Given the description of an element on the screen output the (x, y) to click on. 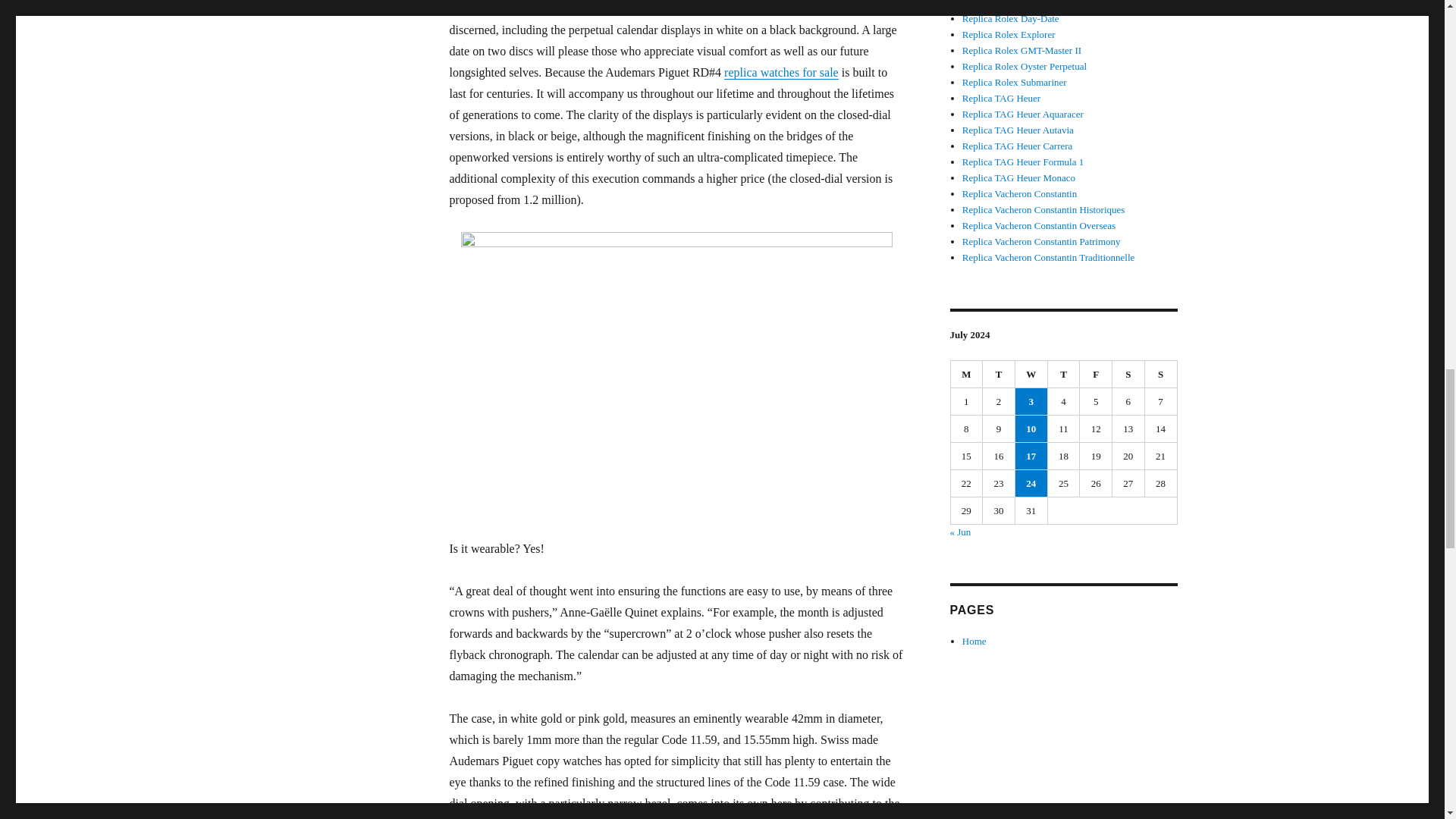
Friday (1096, 374)
Thursday (1064, 374)
replica watches for sale (780, 72)
Sunday (1160, 374)
Tuesday (998, 374)
Wednesday (1031, 374)
Saturday (1128, 374)
Monday (967, 374)
